Given the description of an element on the screen output the (x, y) to click on. 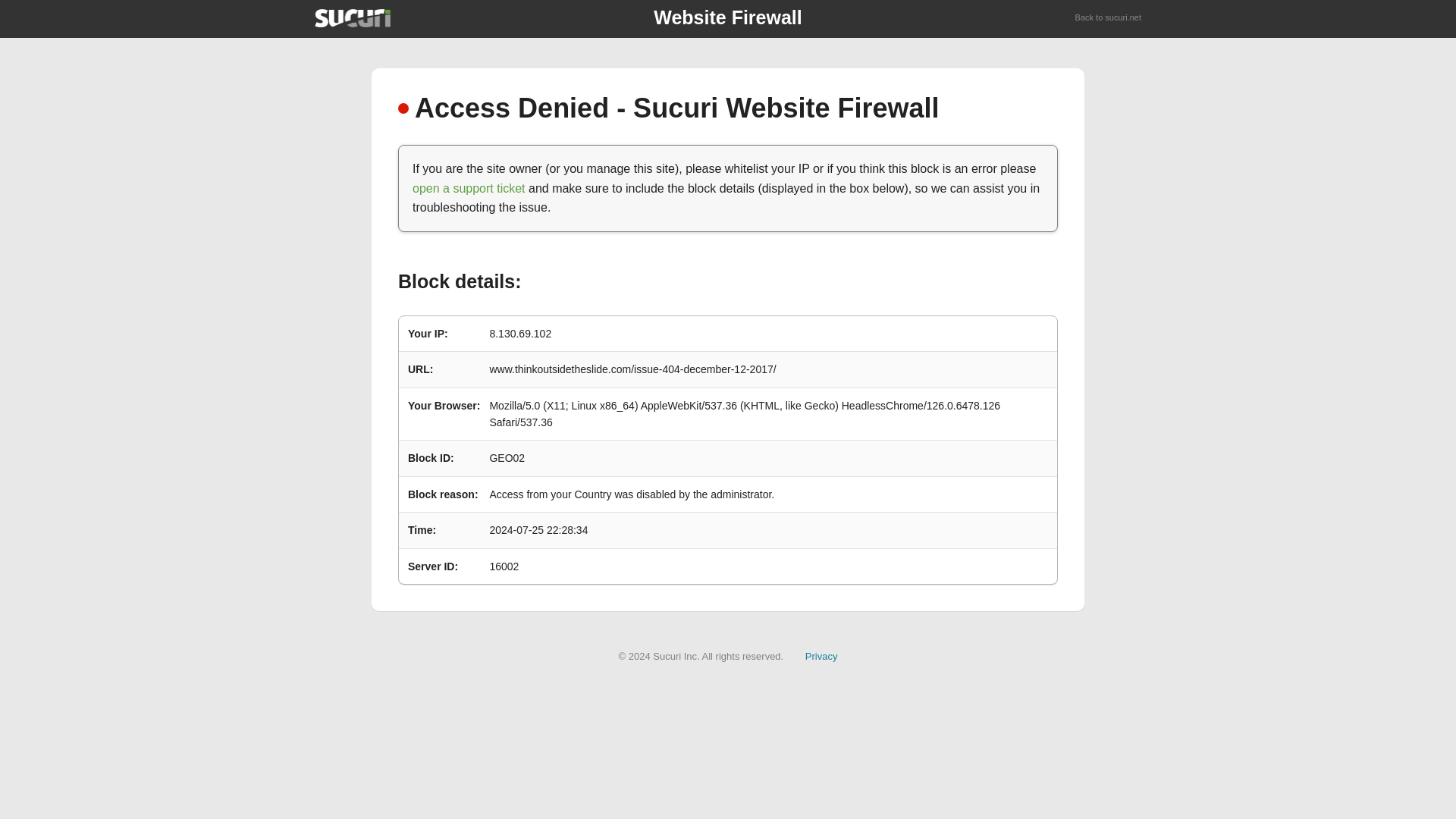
open a support ticket (468, 187)
Back to sucuri.net (1108, 18)
Privacy (821, 655)
